Given the description of an element on the screen output the (x, y) to click on. 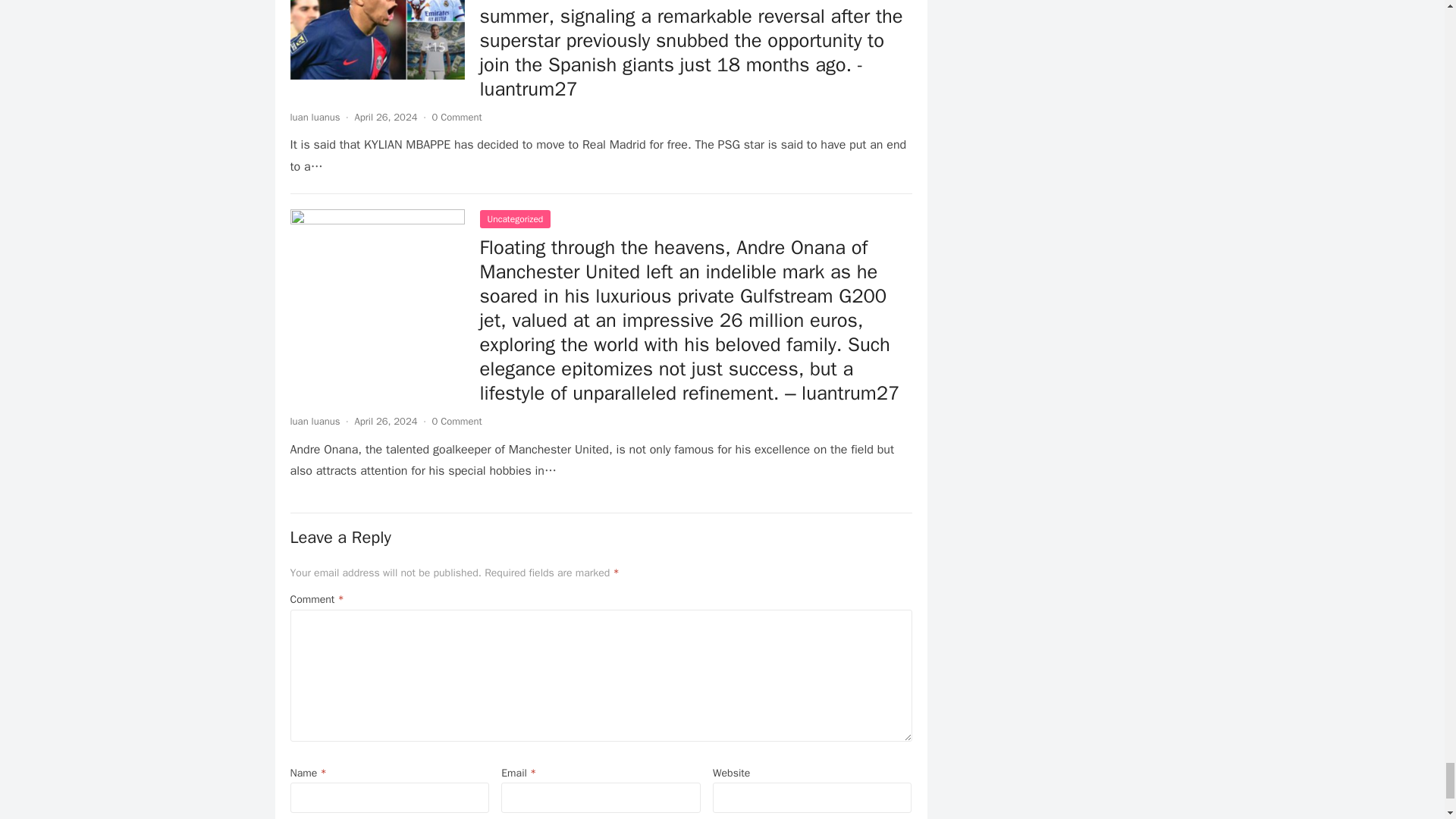
Posts by luan luanus (314, 116)
Posts by luan luanus (314, 420)
